Given the description of an element on the screen output the (x, y) to click on. 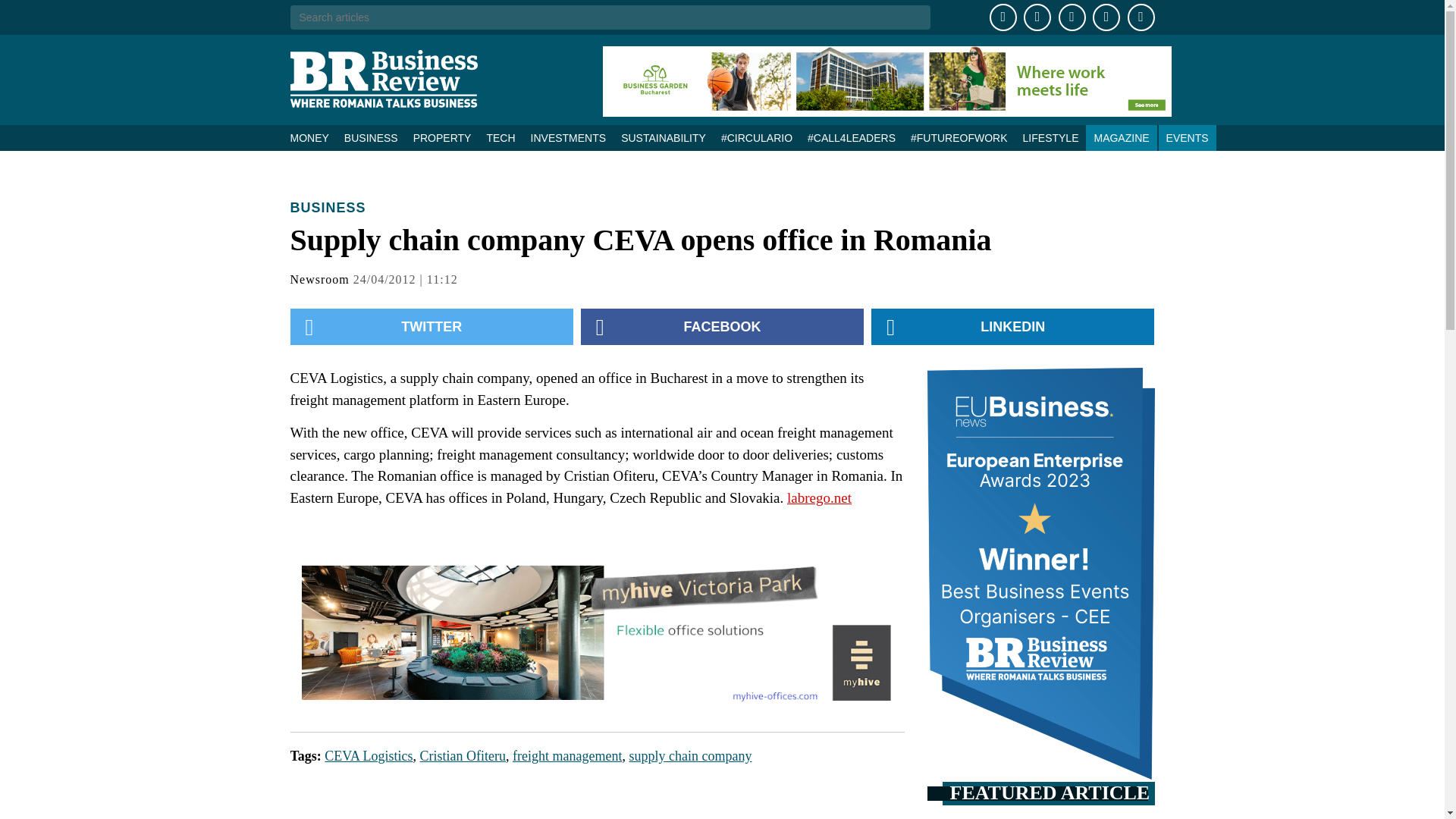
SUSTAINABILITY (662, 137)
BUSINESS (371, 137)
LIFESTYLE (1050, 137)
freight management (566, 755)
INVESTMENTS (568, 137)
PROPERTY (442, 137)
FACEBOOK (721, 326)
LINKEDIN (1012, 326)
labrego.net (819, 497)
MONEY (312, 137)
